Given the description of an element on the screen output the (x, y) to click on. 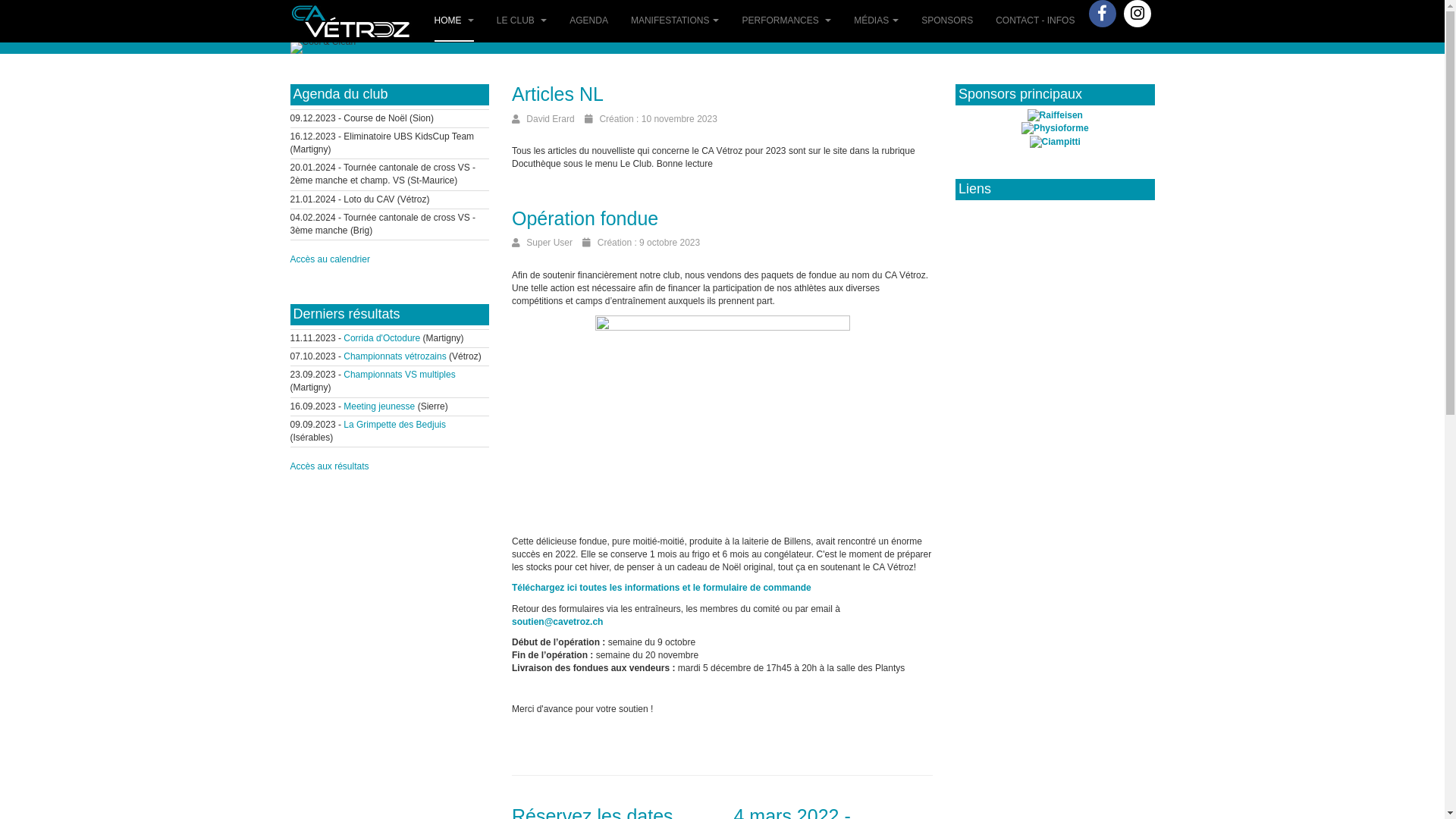
Meeting jeunesse Element type: text (378, 406)
HOME Element type: text (453, 20)
Ciampitti Element type: hover (1054, 141)
CONTACT - INFOS Element type: text (1034, 20)
La Grimpette des Bedjuis Element type: text (394, 424)
PERFORMANCES Element type: text (786, 20)
soutien@cavetroz.ch Element type: text (556, 621)
Articles NL Element type: text (557, 93)
Corrida d'Octodure Element type: text (381, 337)
Championnats VS multiples Element type: text (399, 374)
LE CLUB Element type: text (521, 20)
AGENDA Element type: text (588, 20)
SPONSORS Element type: text (946, 20)
MANIFESTATIONS Element type: text (674, 20)
Raiffeisen Element type: hover (1054, 114)
Physioforme Element type: hover (1054, 127)
